Given the description of an element on the screen output the (x, y) to click on. 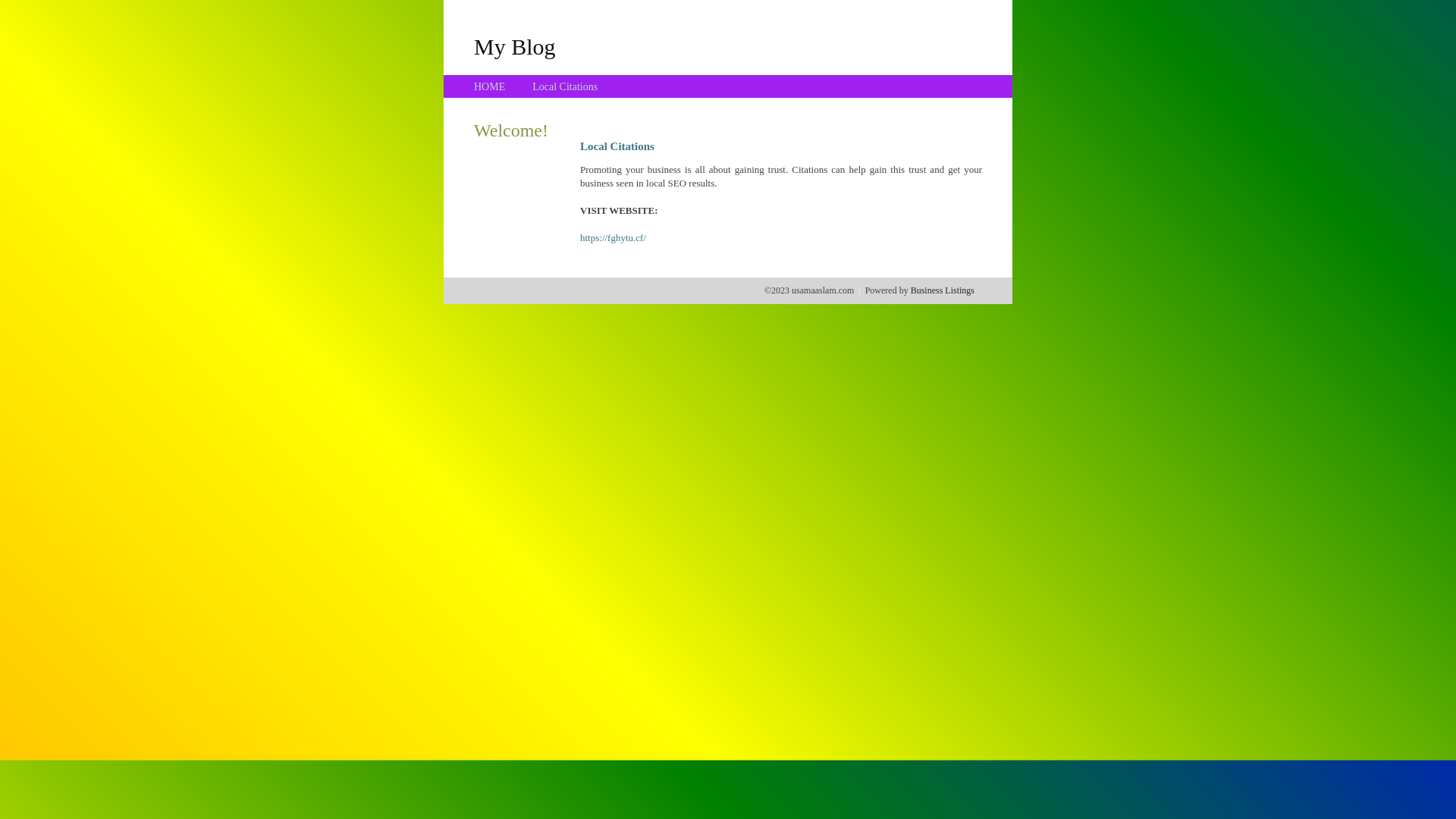
https://fghytu.cf/ Element type: text (613, 237)
Business Listings Element type: text (942, 290)
My Blog Element type: text (514, 46)
HOME Element type: text (489, 86)
Local Citations Element type: text (564, 86)
